Given the description of an element on the screen output the (x, y) to click on. 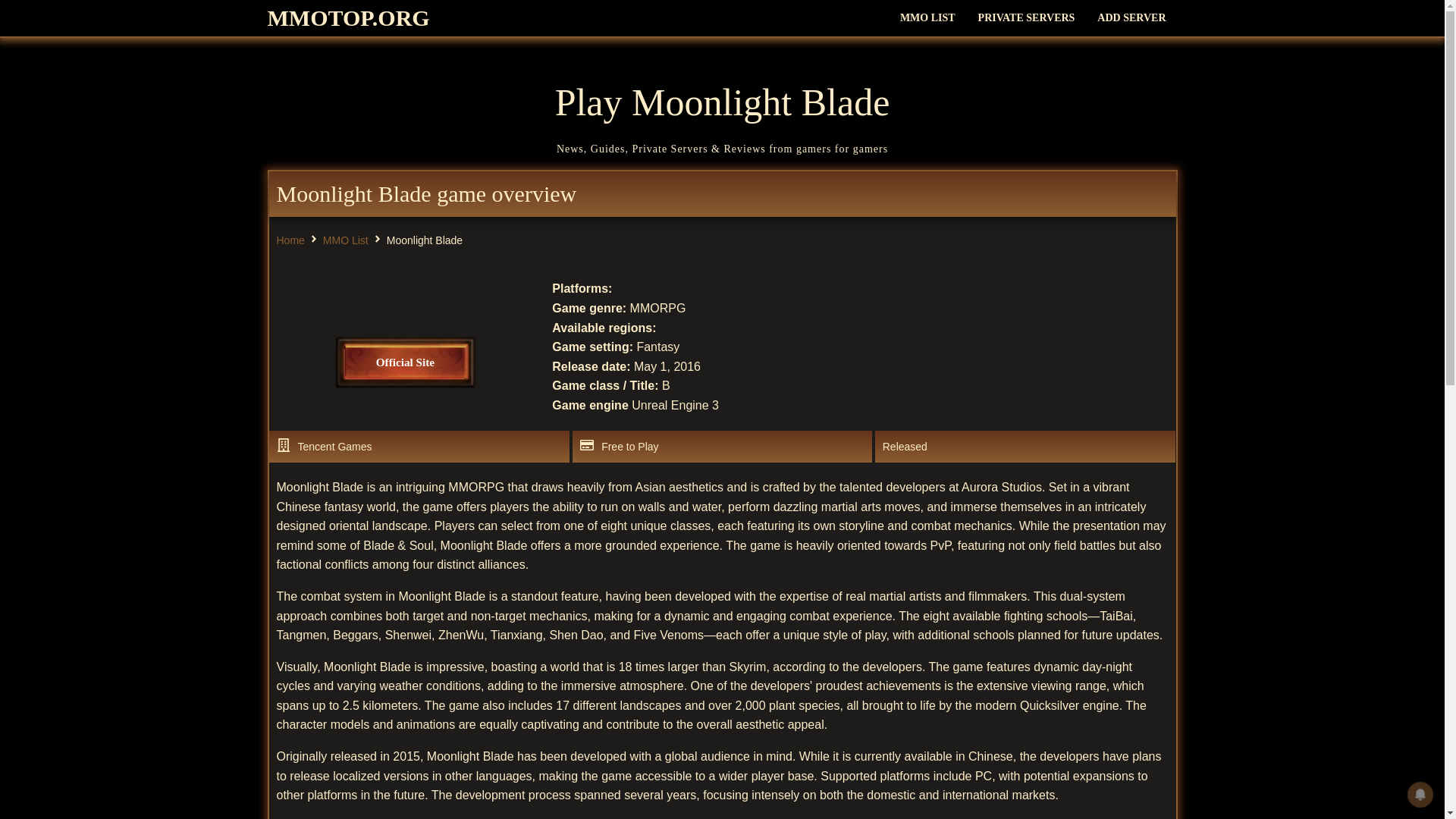
MMO List (345, 239)
PRIVATE SERVERS (1026, 18)
MMOTOP.ORG (347, 18)
MMO LIST (927, 18)
ADD SERVER (1131, 18)
Home (290, 239)
MMO List (345, 239)
Home (290, 239)
Official Site (411, 363)
